Given the description of an element on the screen output the (x, y) to click on. 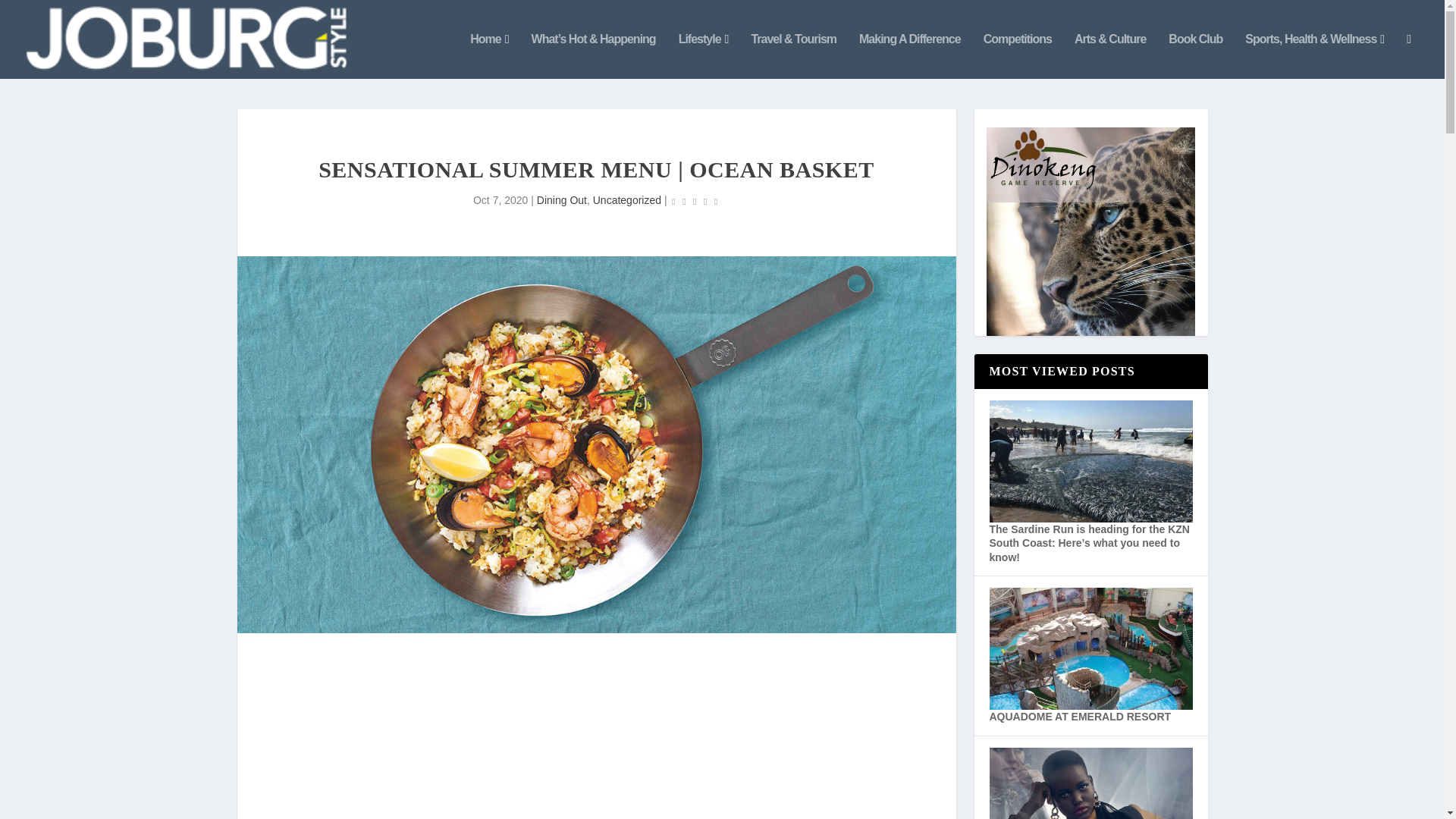
Competitions (1017, 55)
Uncategorized (626, 200)
Book Club (1196, 55)
AQUADOME AT EMERALD RESORT (1079, 716)
Lifestyle (703, 55)
Dining Out (561, 200)
Rating: 0.00 (694, 200)
Making A Difference (909, 55)
